Given the description of an element on the screen output the (x, y) to click on. 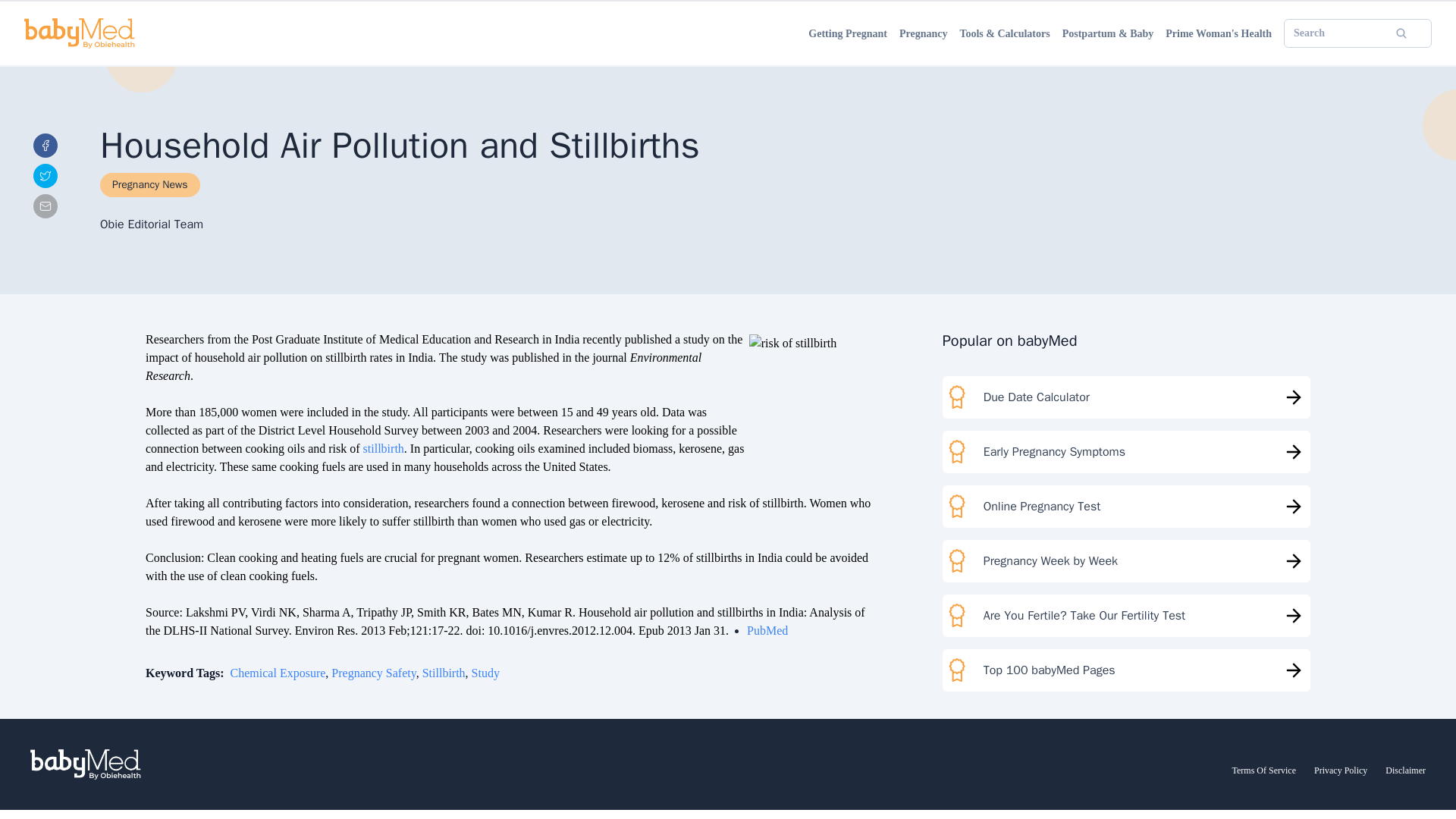
Prime Woman's Health (61, 97)
PubMed (56, 633)
stillbirth (284, 658)
study (324, 658)
stillbirth (143, 512)
Keyword Tags:chemical exposure (87, 658)
pregnancy safety (217, 658)
stillbirth (143, 512)
PubMed (56, 633)
Pregnancy (31, 56)
Getting Pregnant (46, 42)
